Given the description of an element on the screen output the (x, y) to click on. 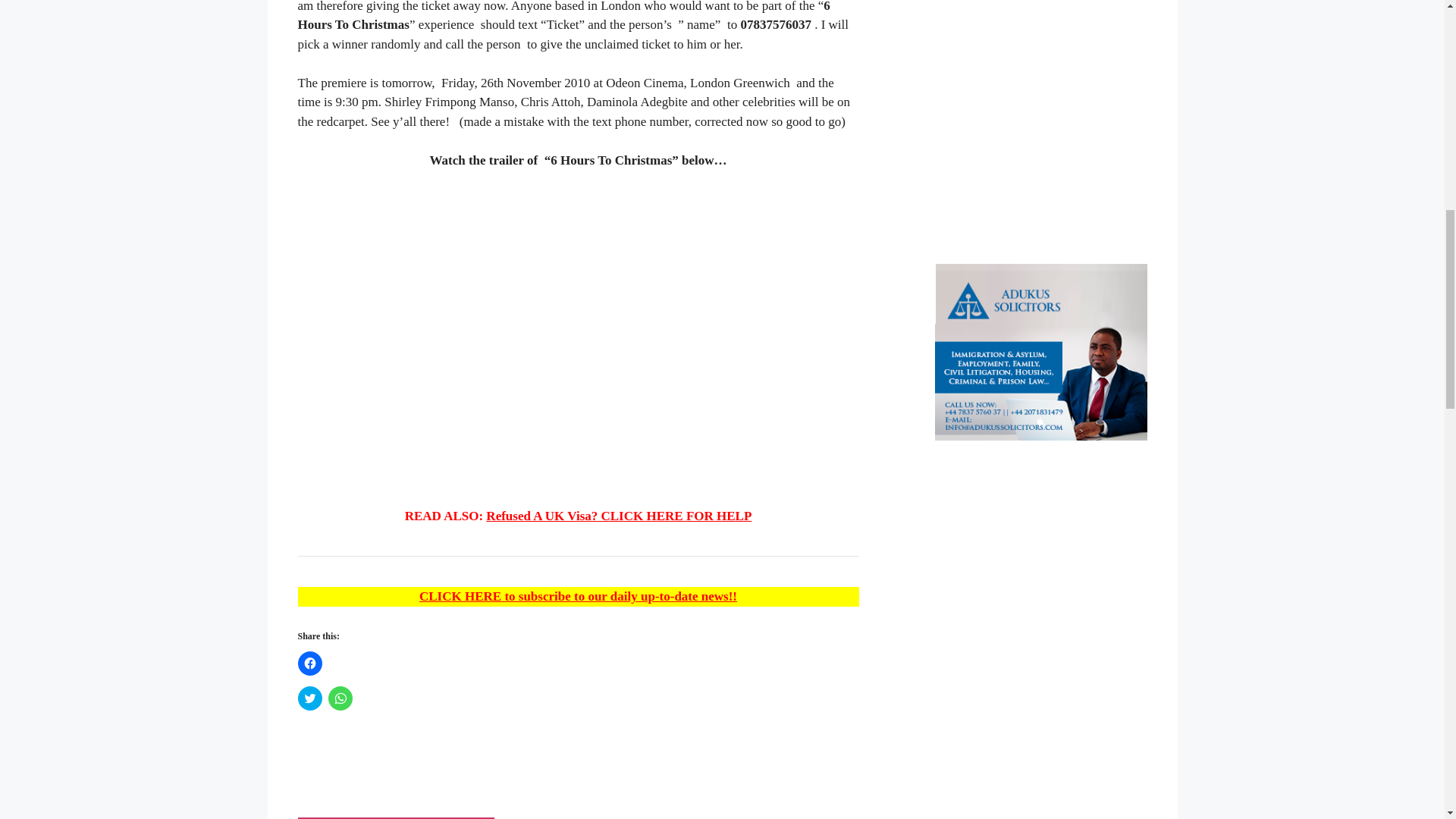
Click to share on WhatsApp (339, 698)
Click to share on Facebook (309, 663)
Click to share on Twitter (309, 698)
